Given the description of an element on the screen output the (x, y) to click on. 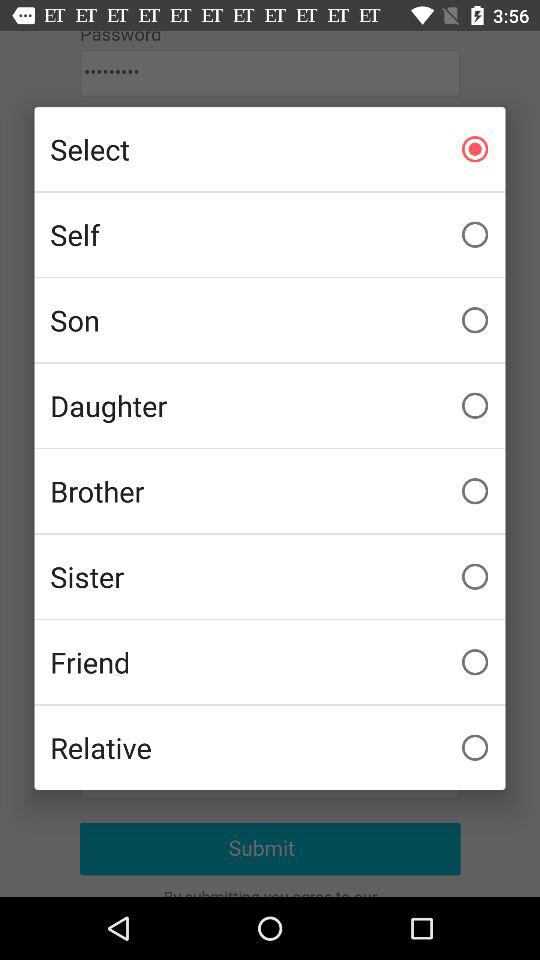
flip until daughter icon (269, 405)
